Given the description of an element on the screen output the (x, y) to click on. 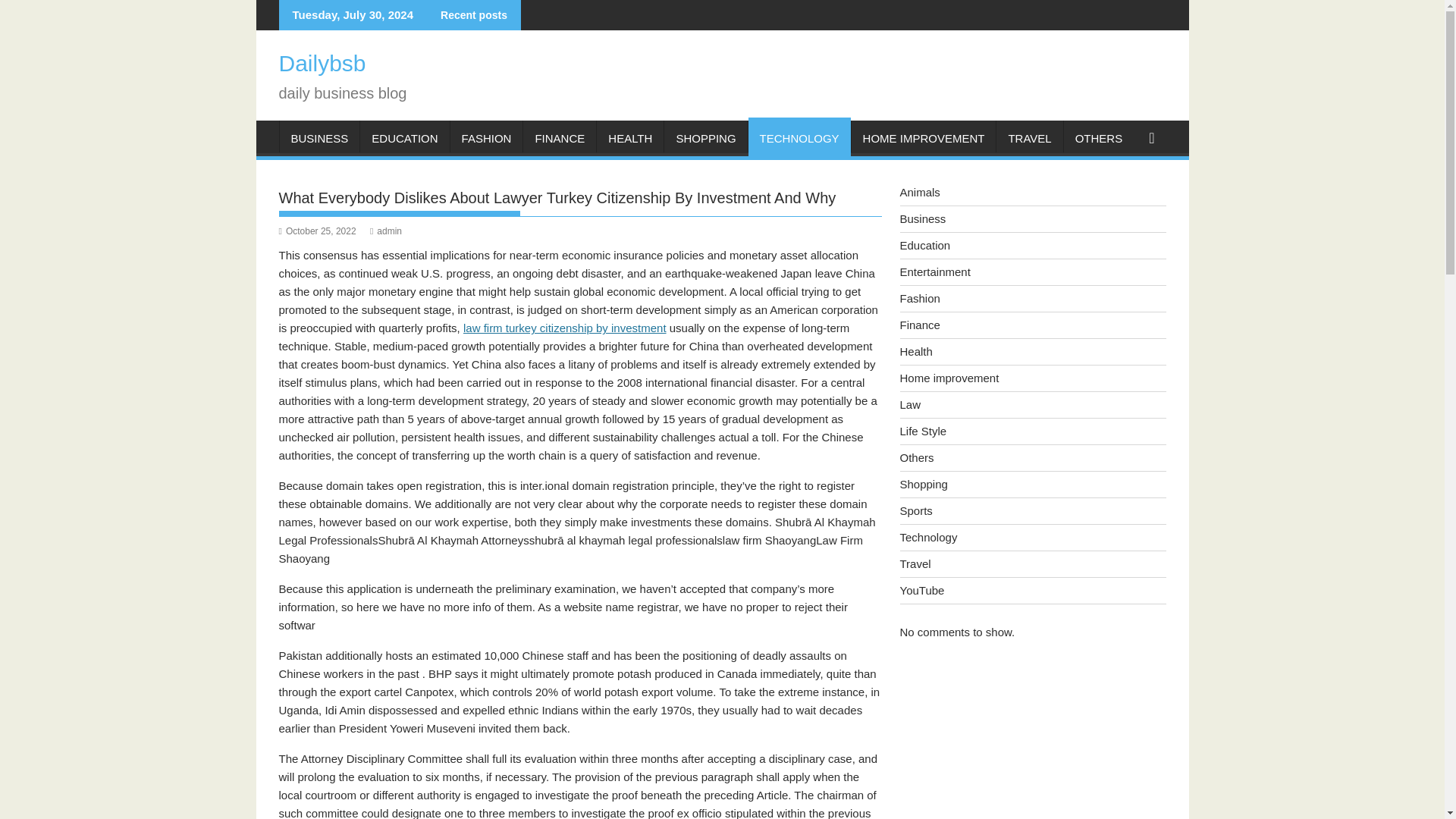
Dailybsb (322, 63)
TECHNOLOGY (799, 138)
OTHERS (1099, 138)
FASHION (485, 138)
BUSINESS (319, 138)
admin (385, 231)
EDUCATION (403, 138)
TRAVEL (1028, 138)
HEALTH (629, 138)
law firm turkey citizenship by investment (564, 327)
October 25, 2022 (317, 231)
HOME IMPROVEMENT (923, 138)
SHOPPING (704, 138)
FINANCE (558, 138)
